Given the description of an element on the screen output the (x, y) to click on. 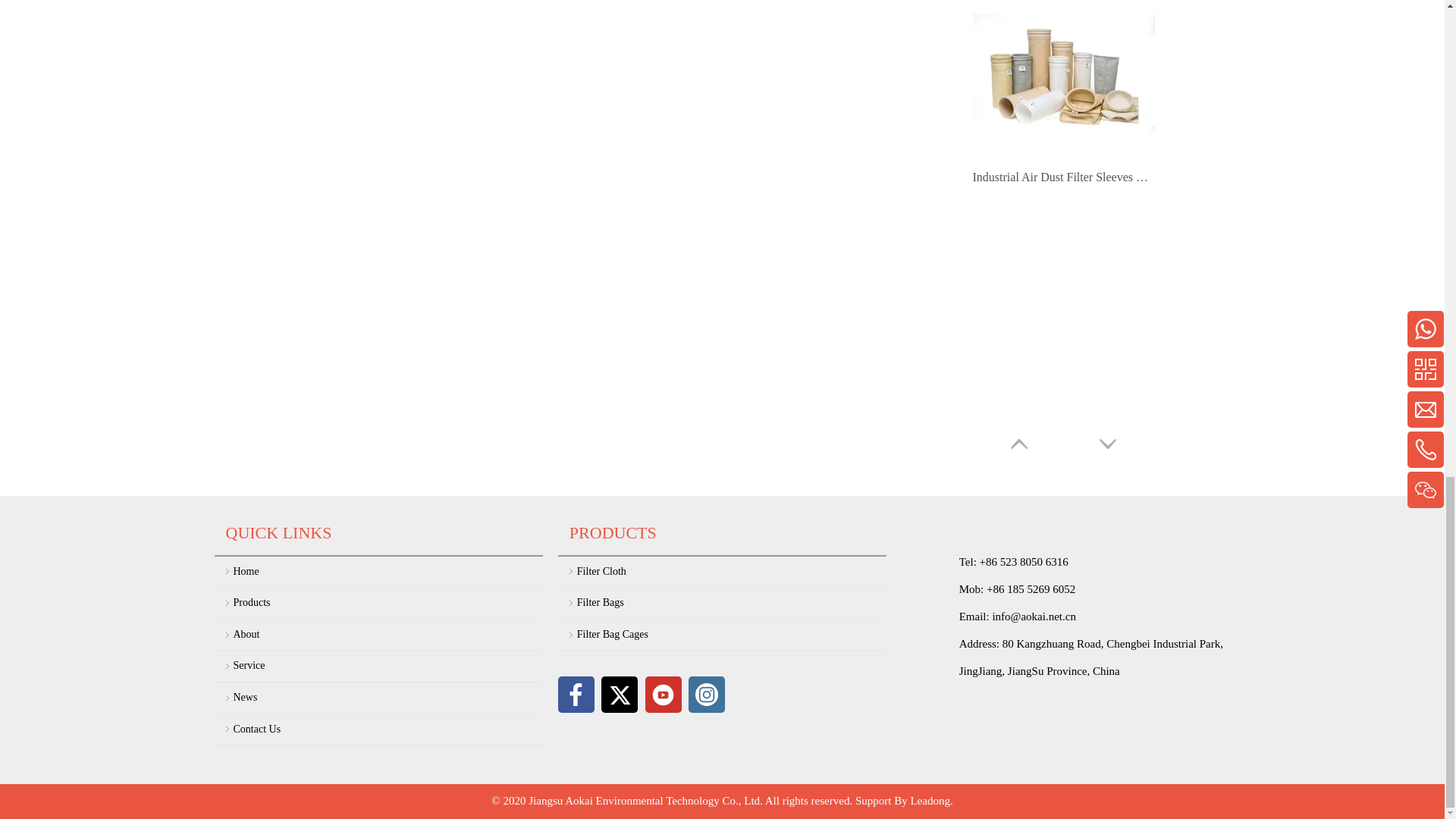
Home (387, 572)
Products (387, 603)
About (387, 634)
Industrial Air Dust Filter Sleeves Filter Bags  (1063, 177)
Service (387, 665)
